Given the description of an element on the screen output the (x, y) to click on. 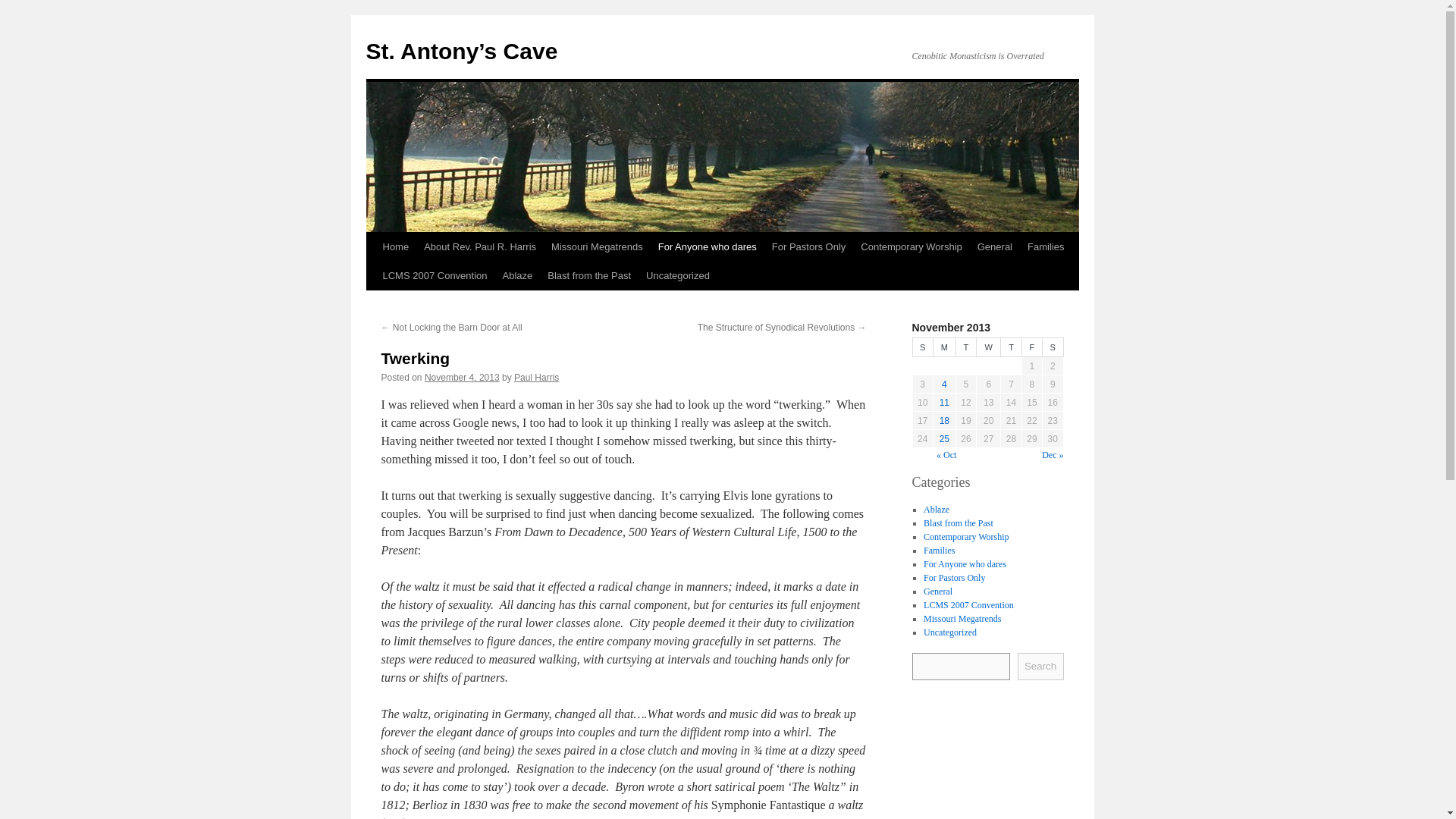
25 (944, 439)
For Pastors Only (808, 246)
General (937, 590)
LCMS 2007 Convention (968, 603)
Sunday (922, 347)
Monday (944, 347)
Tuesday (965, 347)
11 (944, 402)
For Pastors Only (954, 576)
Paul Harris (536, 377)
Blast from the Past (589, 275)
LCMS 2007 Convention (434, 275)
Contemporary Worship (966, 535)
Blast from the Past (957, 521)
Ablaze (936, 508)
